Given the description of an element on the screen output the (x, y) to click on. 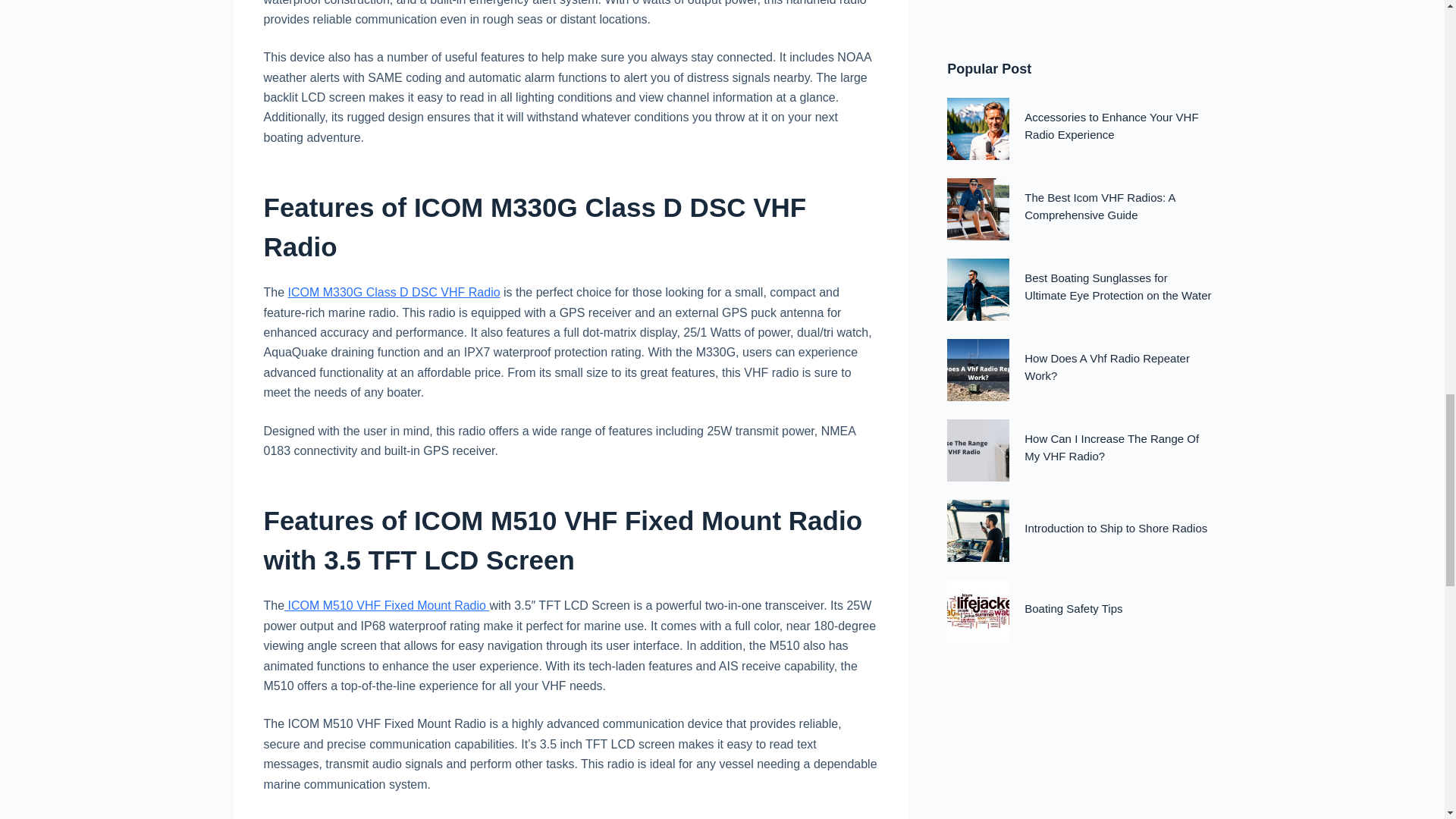
ICOM M510 VHF Fixed Mount Radio (386, 604)
ICOM M330G Class D DSC VHF Radio (394, 291)
